Given the description of an element on the screen output the (x, y) to click on. 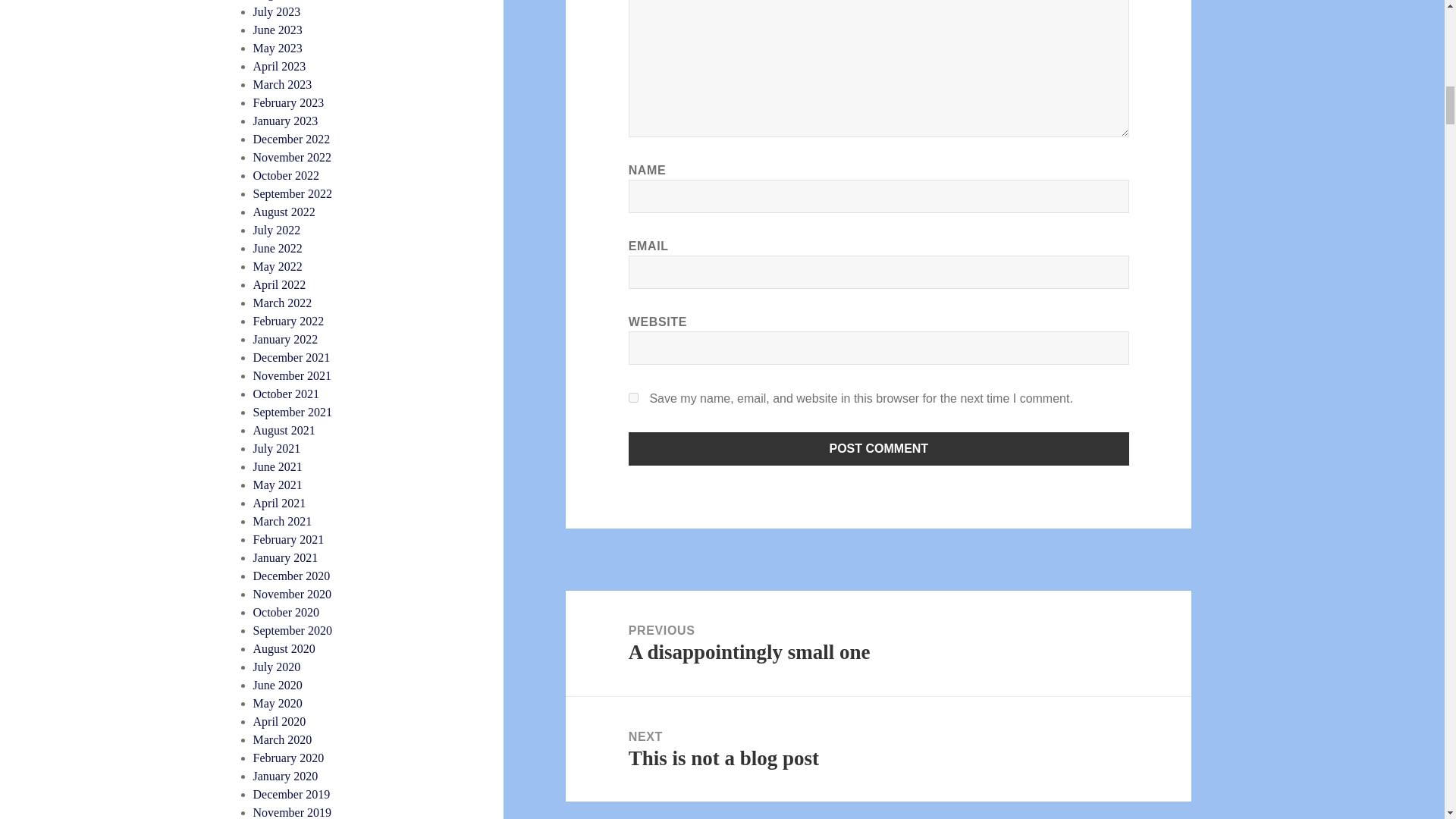
October 2022 (286, 174)
Post Comment (878, 449)
yes (633, 397)
September 2022 (292, 193)
August 2022 (284, 211)
July 2022 (277, 229)
July 2023 (277, 11)
May 2023 (277, 47)
April 2022 (279, 284)
February 2023 (288, 102)
